Given the description of an element on the screen output the (x, y) to click on. 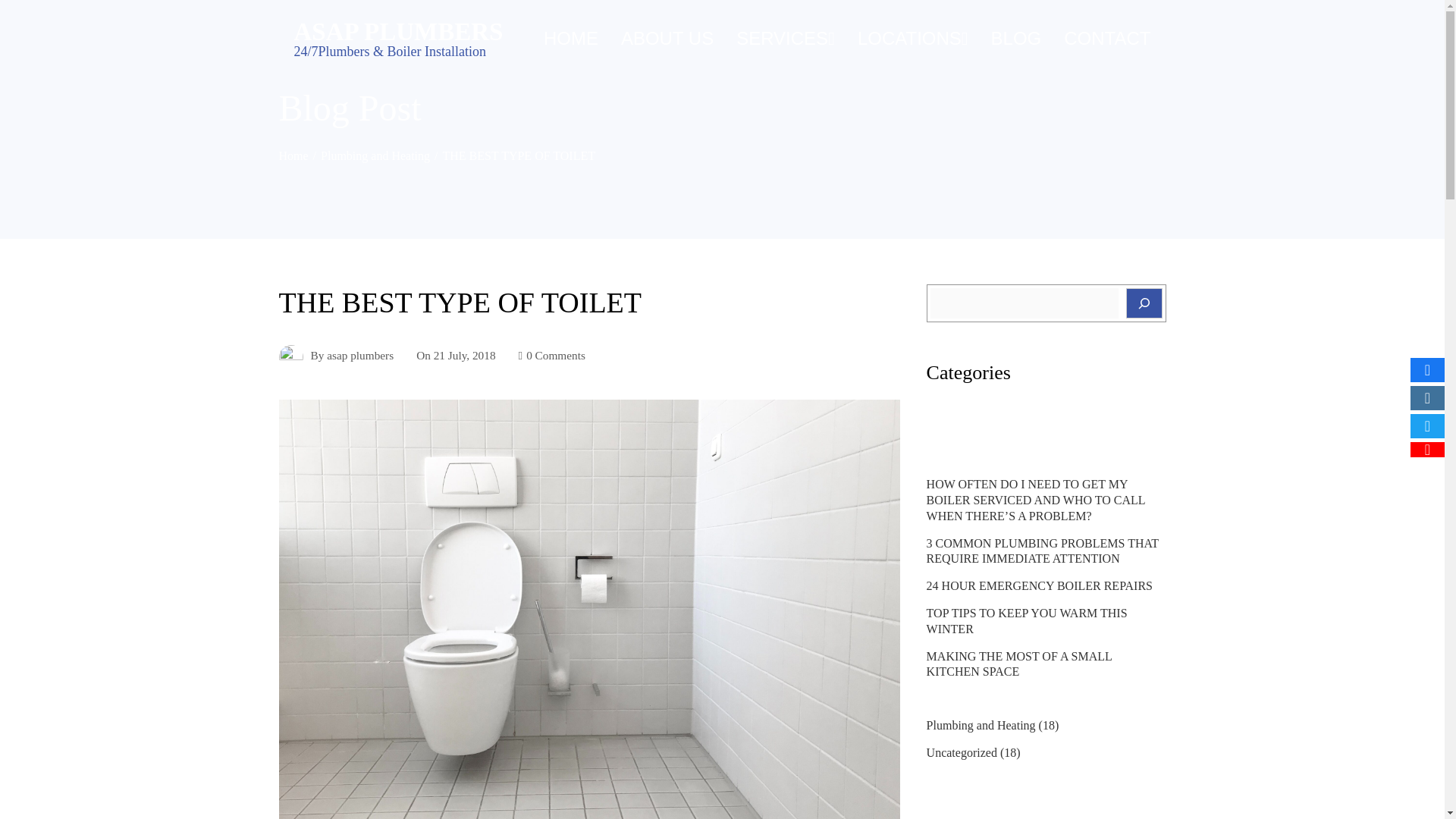
LOCATIONS (912, 38)
HOME (570, 38)
ASAP PLUMBERS (398, 31)
SERVICES (785, 38)
BLOG (1016, 38)
CONTACT (1107, 38)
ABOUT US (667, 38)
